Given the description of an element on the screen output the (x, y) to click on. 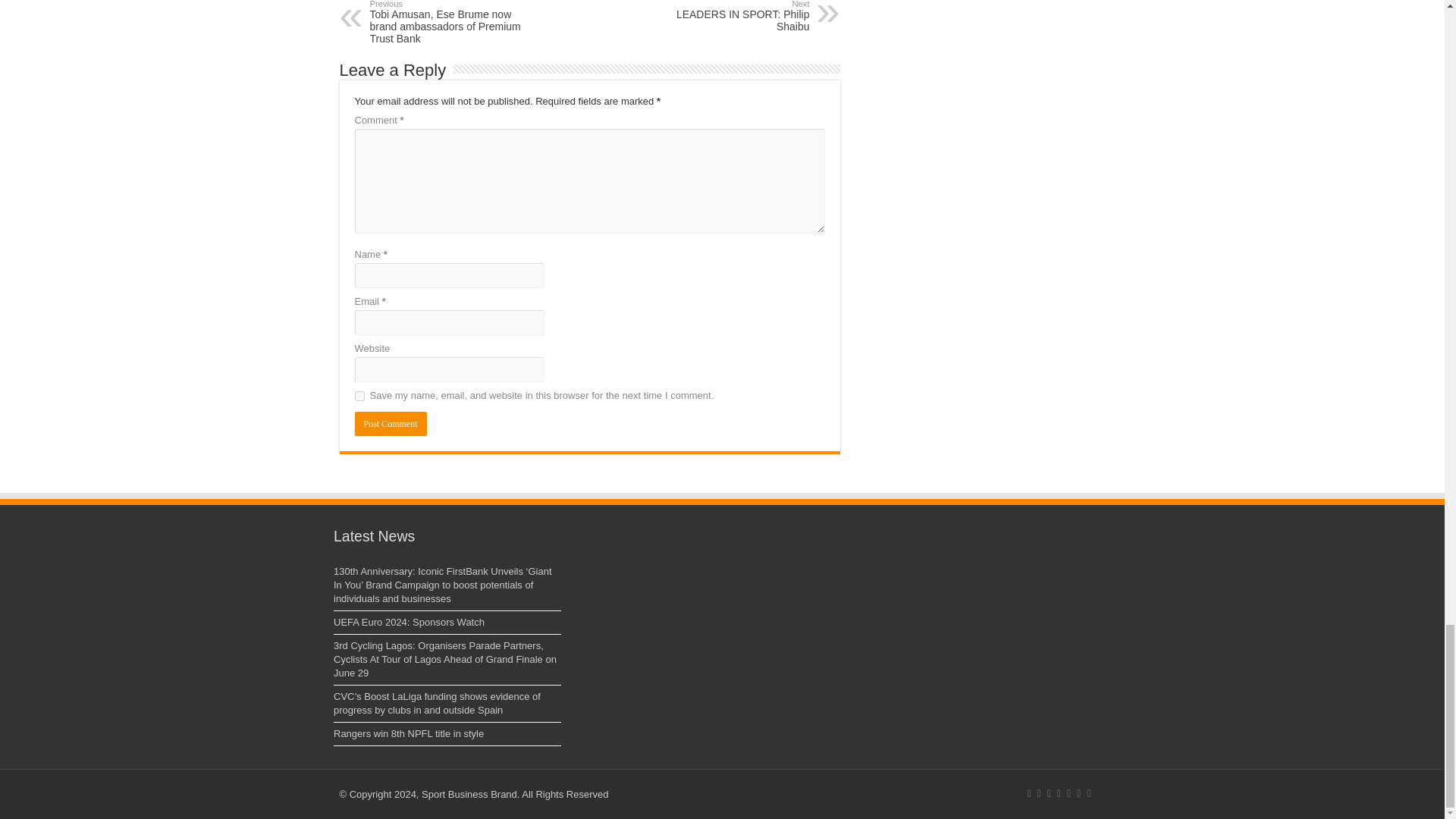
Post Comment (390, 423)
yes (360, 396)
